Given the description of an element on the screen output the (x, y) to click on. 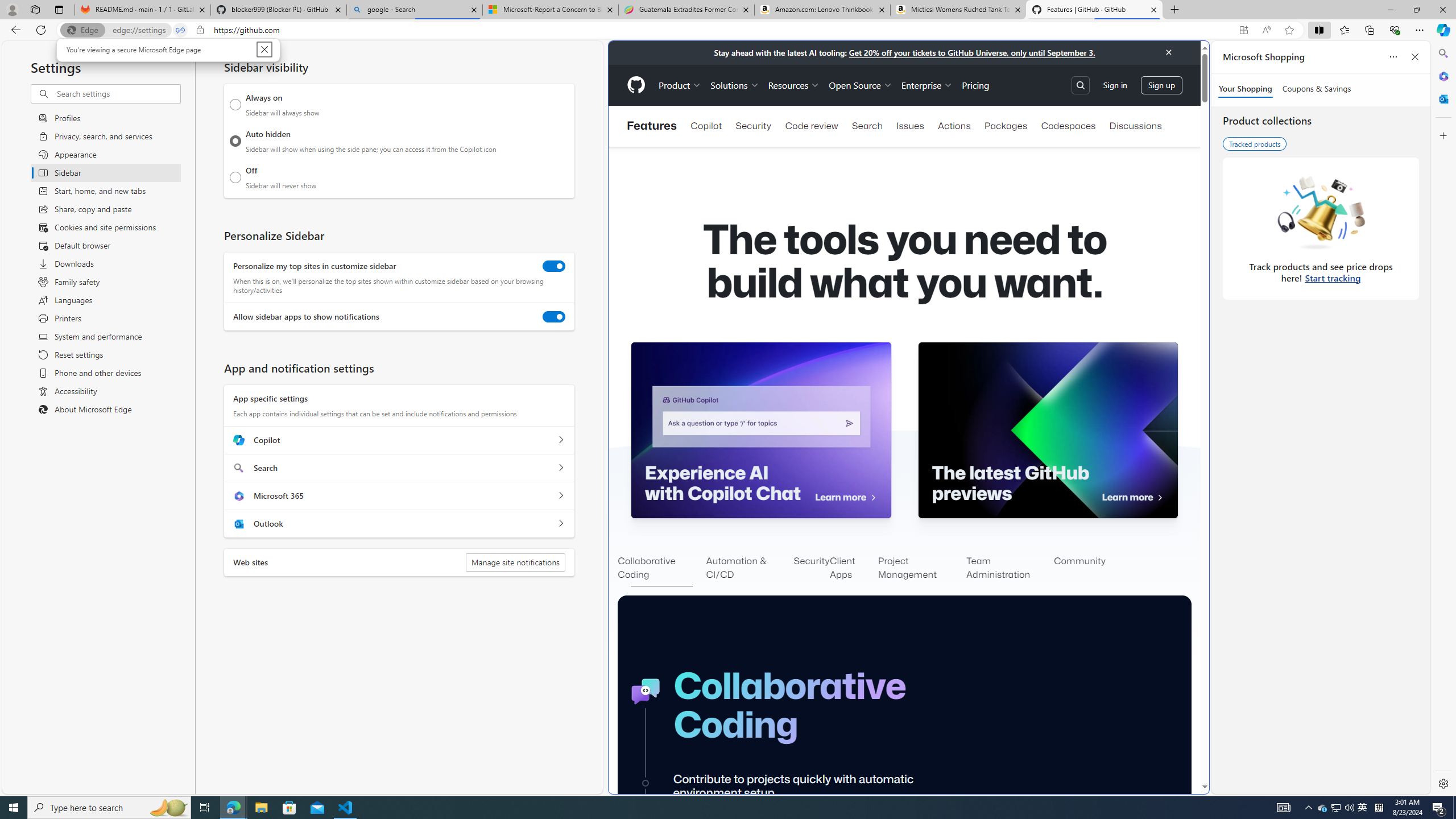
Code review (811, 125)
Personalize my top sites in customize sidebar (553, 265)
Open Source (860, 84)
Microsoft 365 (1442, 76)
Solutions (735, 84)
Class: octicon arrow-symbol-mktg octicon (1159, 497)
Show desktop (1454, 807)
